Given the description of an element on the screen output the (x, y) to click on. 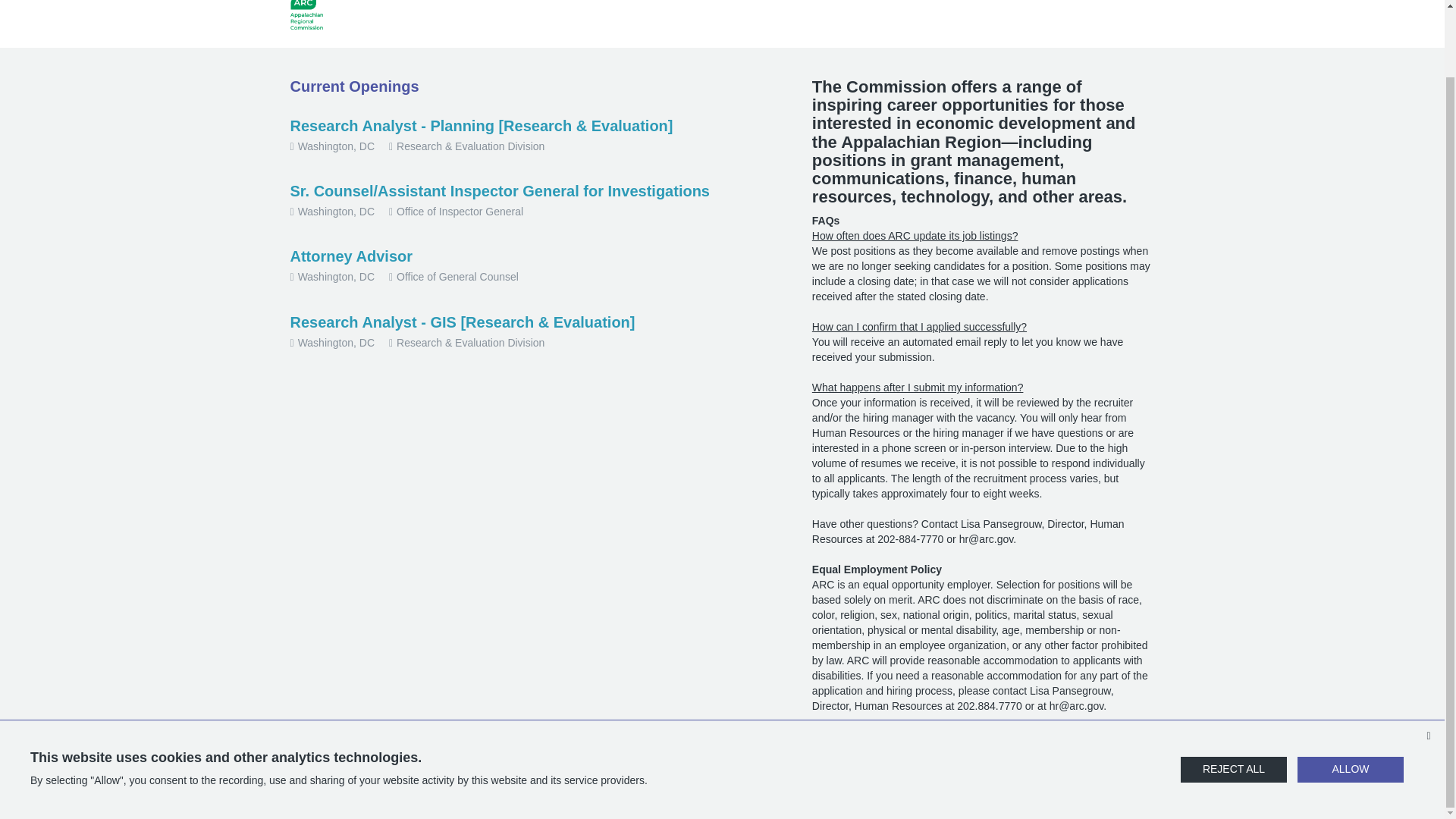
Attorney Advisor (351, 256)
REJECT ALL (1233, 696)
POWERED BY (721, 786)
ALLOW (1350, 696)
